Given the description of an element on the screen output the (x, y) to click on. 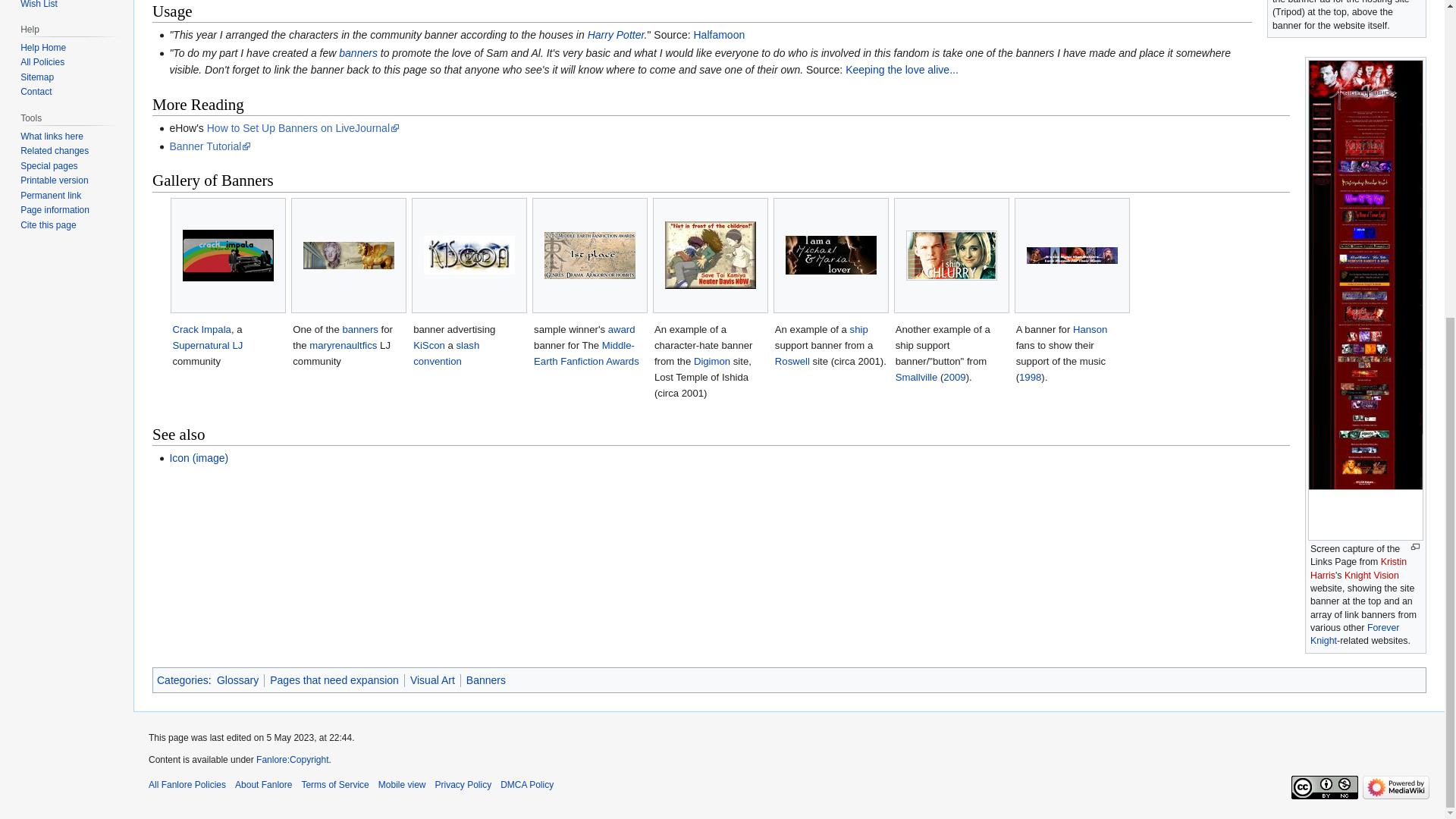
Keeping the love alive... (901, 69)
Forever Knight (1354, 634)
How to Set Up Banners on LiveJournal (302, 128)
Halfamoon (718, 34)
Knight Vision (1371, 575)
banners (358, 52)
Harry Potter (616, 34)
Kristin Harris (1358, 567)
Forever Knight (1354, 634)
Enlarge (1415, 546)
